Given the description of an element on the screen output the (x, y) to click on. 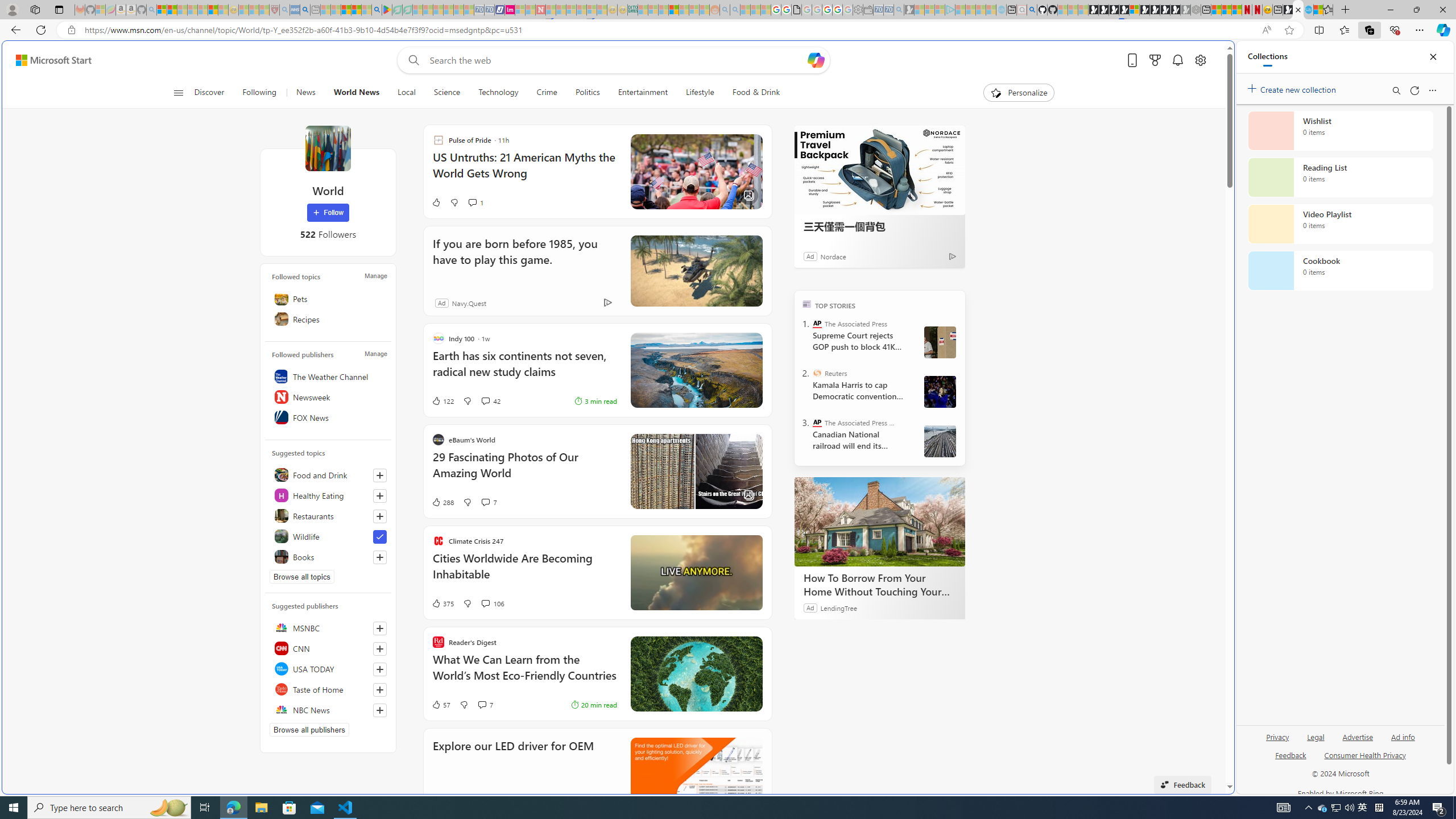
Healthy Eating (327, 495)
122 Like (442, 400)
375 Like (442, 603)
Services - Maintenance | Sky Blue Bikes - Sky Blue Bikes (1307, 9)
Pets - MSN (356, 9)
Explore our LED driver for OEMAdInventronics (596, 773)
